Given the description of an element on the screen output the (x, y) to click on. 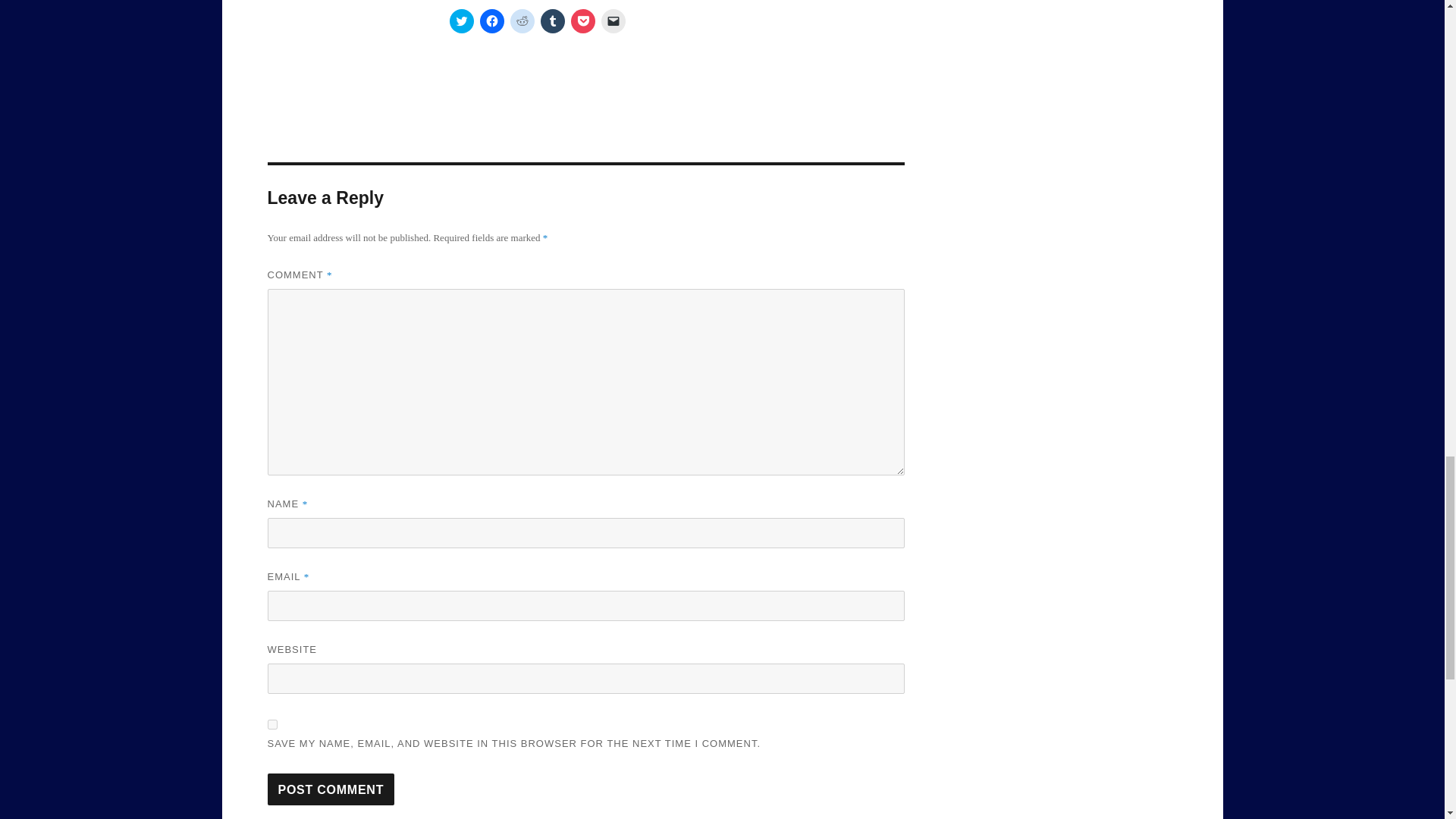
Post Comment (330, 789)
Post Comment (330, 789)
Click to share on Pocket (582, 21)
Click to share on Reddit (521, 21)
yes (271, 724)
Click to email a link to a friend (611, 21)
Click to share on Facebook (491, 21)
Click to share on Twitter (460, 21)
Click to share on Tumblr (552, 21)
